Given the description of an element on the screen output the (x, y) to click on. 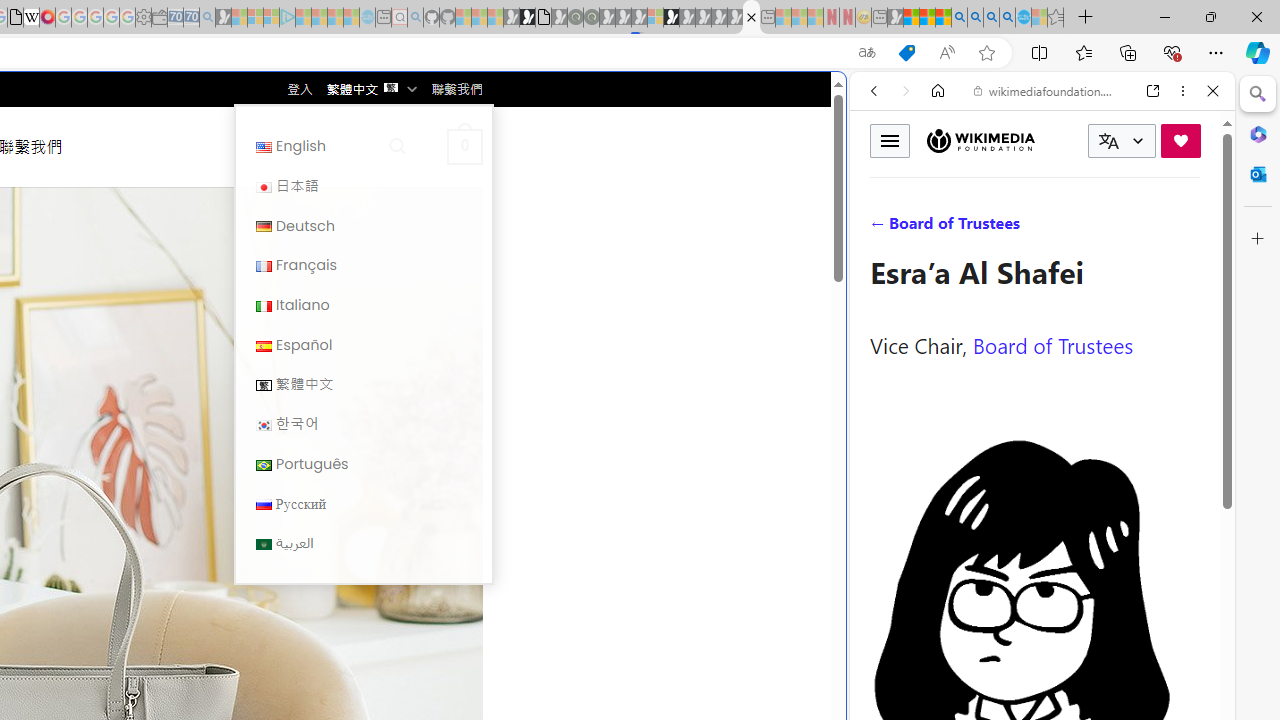
English English (363, 145)
Class: i icon icon-translate language-switcher__icon (1108, 141)
Wikimedia Foundation (980, 141)
